Given the description of an element on the screen output the (x, y) to click on. 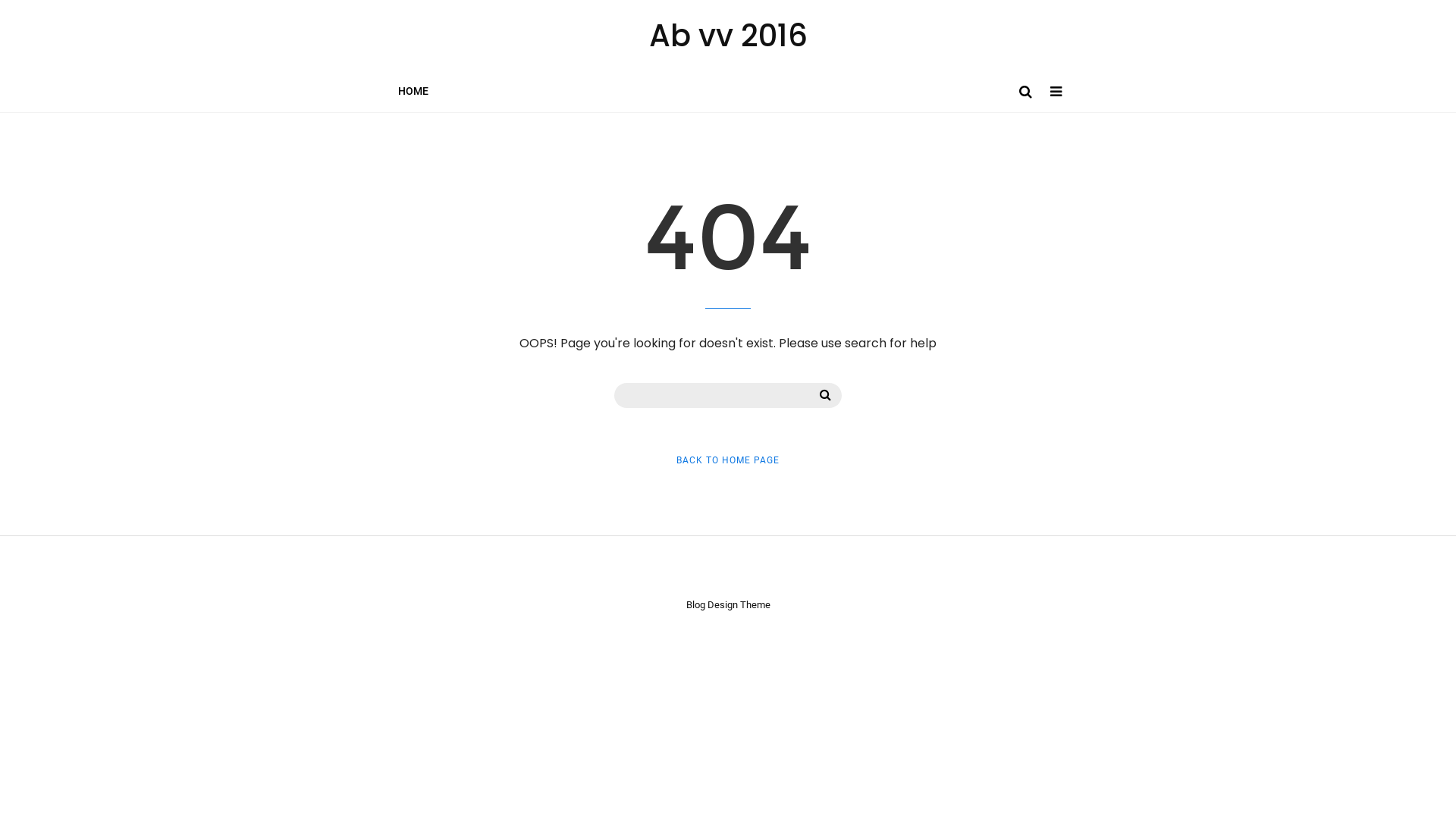
Search Element type: text (824, 394)
BACK TO HOME PAGE Element type: text (727, 460)
HOME Element type: text (412, 90)
